Given the description of an element on the screen output the (x, y) to click on. 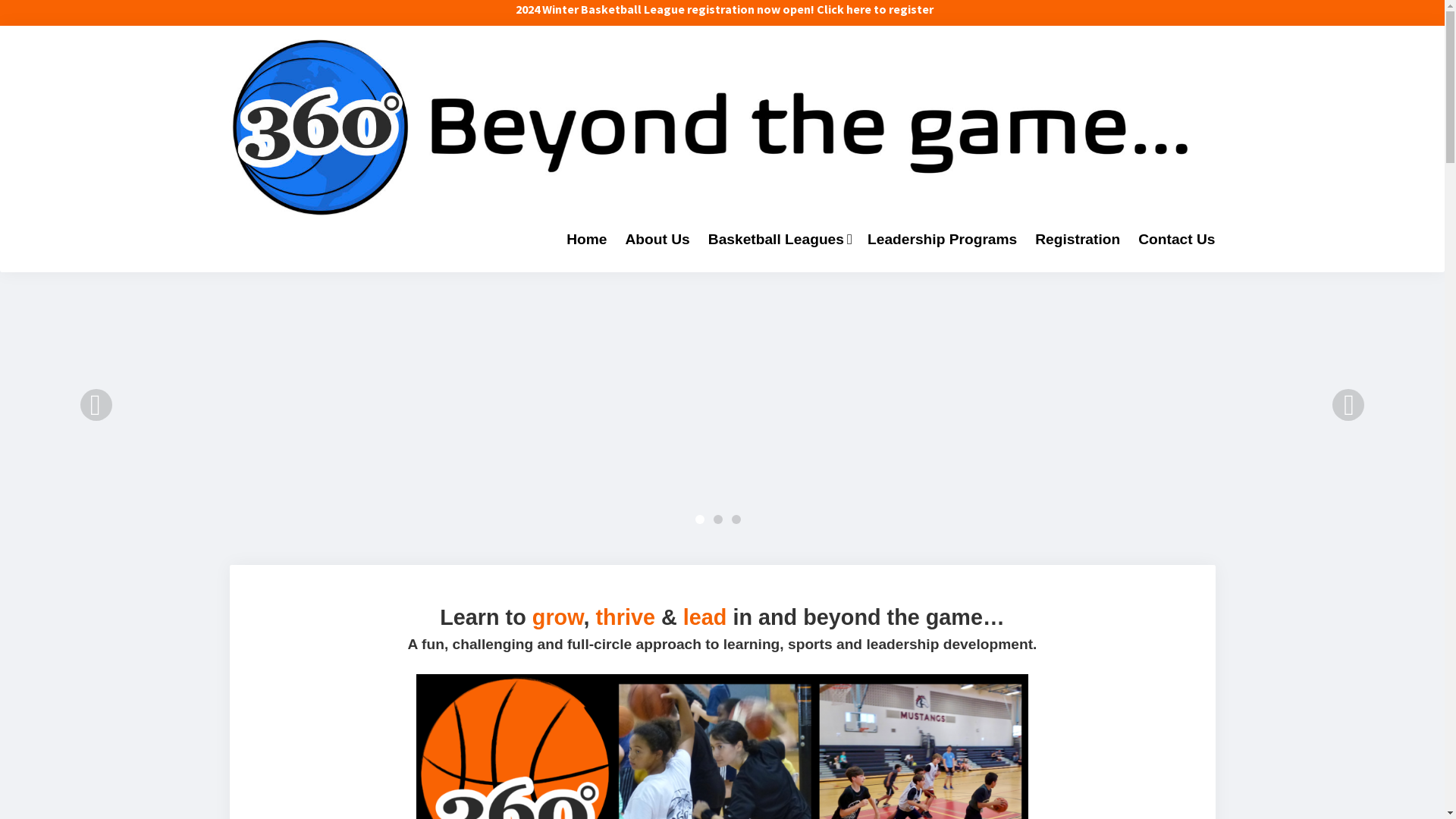
About Us Element type: text (657, 239)
Basketball Leagues Element type: text (778, 239)
Home Element type: text (586, 239)
Registration Element type: text (1077, 239)
Contact Us Element type: text (1176, 239)
Leadership Programs Element type: text (942, 239)
